Given the description of an element on the screen output the (x, y) to click on. 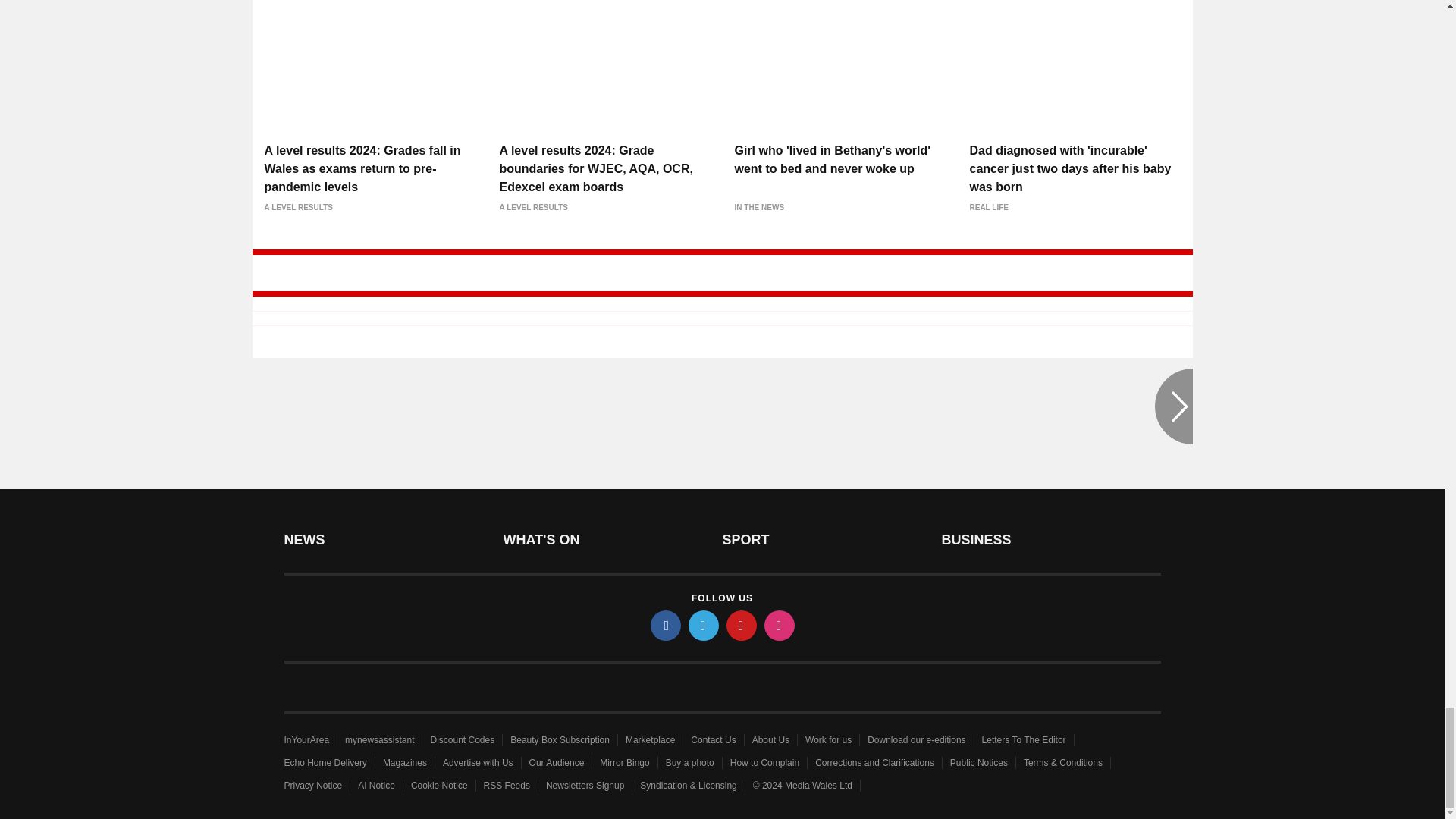
pinterest (741, 625)
twitter (703, 625)
instagram (779, 625)
facebook (665, 625)
